Given the description of an element on the screen output the (x, y) to click on. 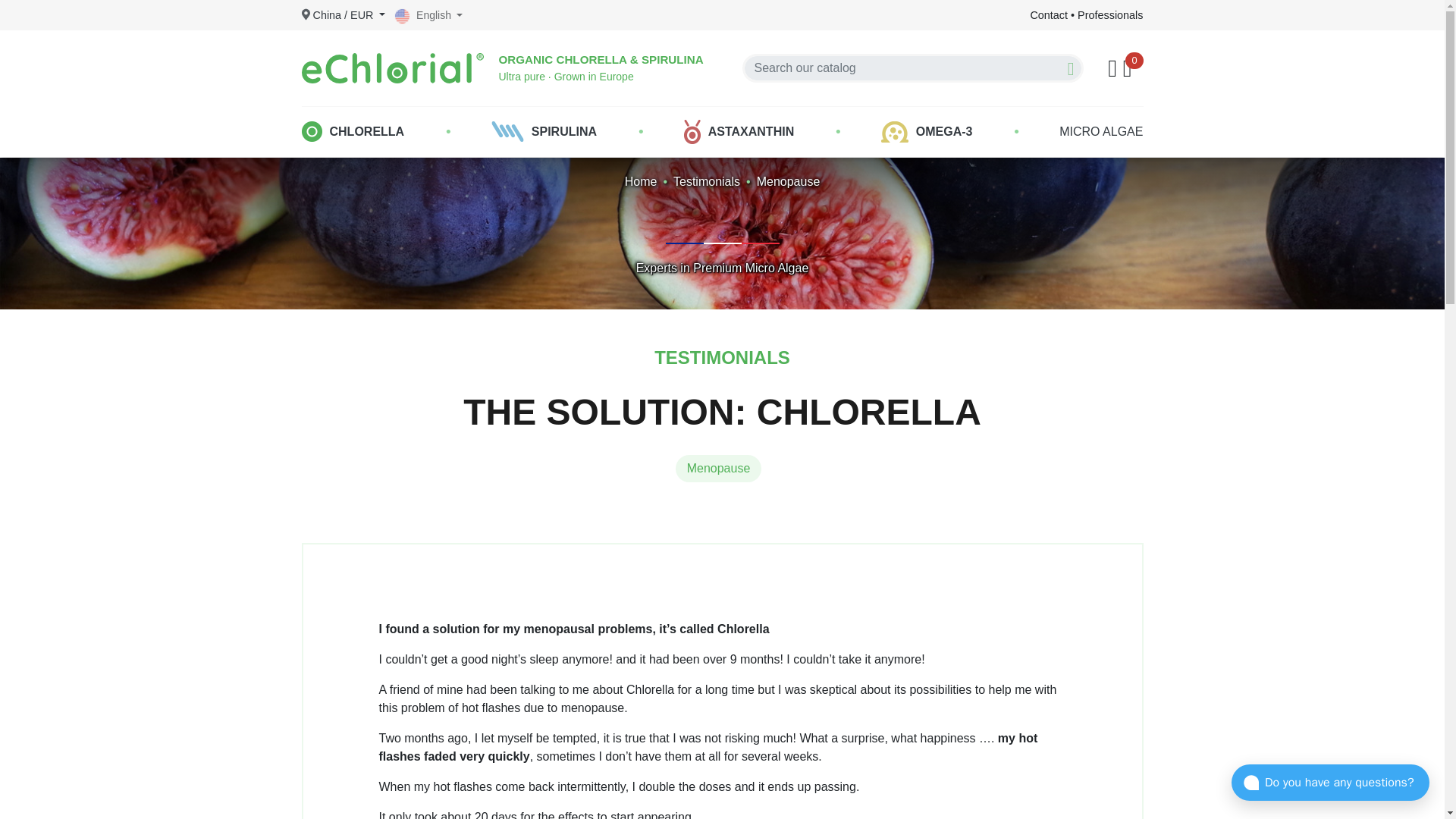
SPIRULINA (543, 132)
English (428, 15)
ASTAXANTHIN (738, 132)
Professionals (1109, 15)
Contact (1048, 15)
OMEGA-3 (926, 132)
CHLORELLA (352, 132)
Open chat window (1330, 782)
